Given the description of an element on the screen output the (x, y) to click on. 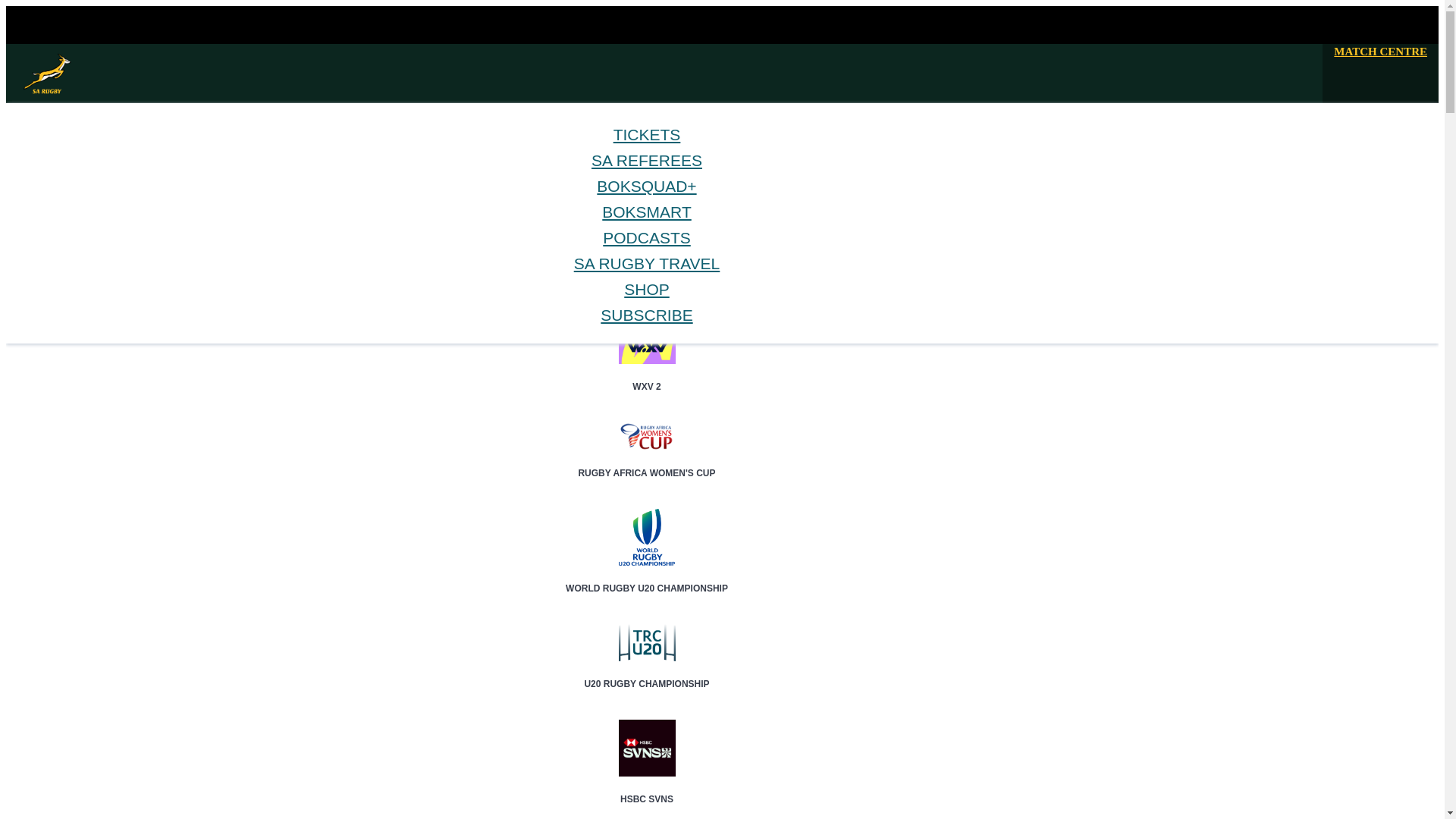
SPRINGBOKS (91, 191)
SA REFEREES (646, 159)
U20 RUGBY CHAMPIONSHIP (647, 670)
HSBC SVNS (647, 786)
WXV 2 (647, 373)
BOKSQUAD (87, 229)
MORE (74, 255)
MATCH CENTRE (1380, 51)
CASTLE LAGER RUGBY CHAMPS (647, 283)
TICKETS (646, 134)
BOKSMART (88, 243)
TOURNAMENTS (98, 216)
RUGBY AFRICA WOMEN'S CUP (647, 460)
WORLD RUGBY U20 CHAMPIONSHIP (647, 575)
